Given the description of an element on the screen output the (x, y) to click on. 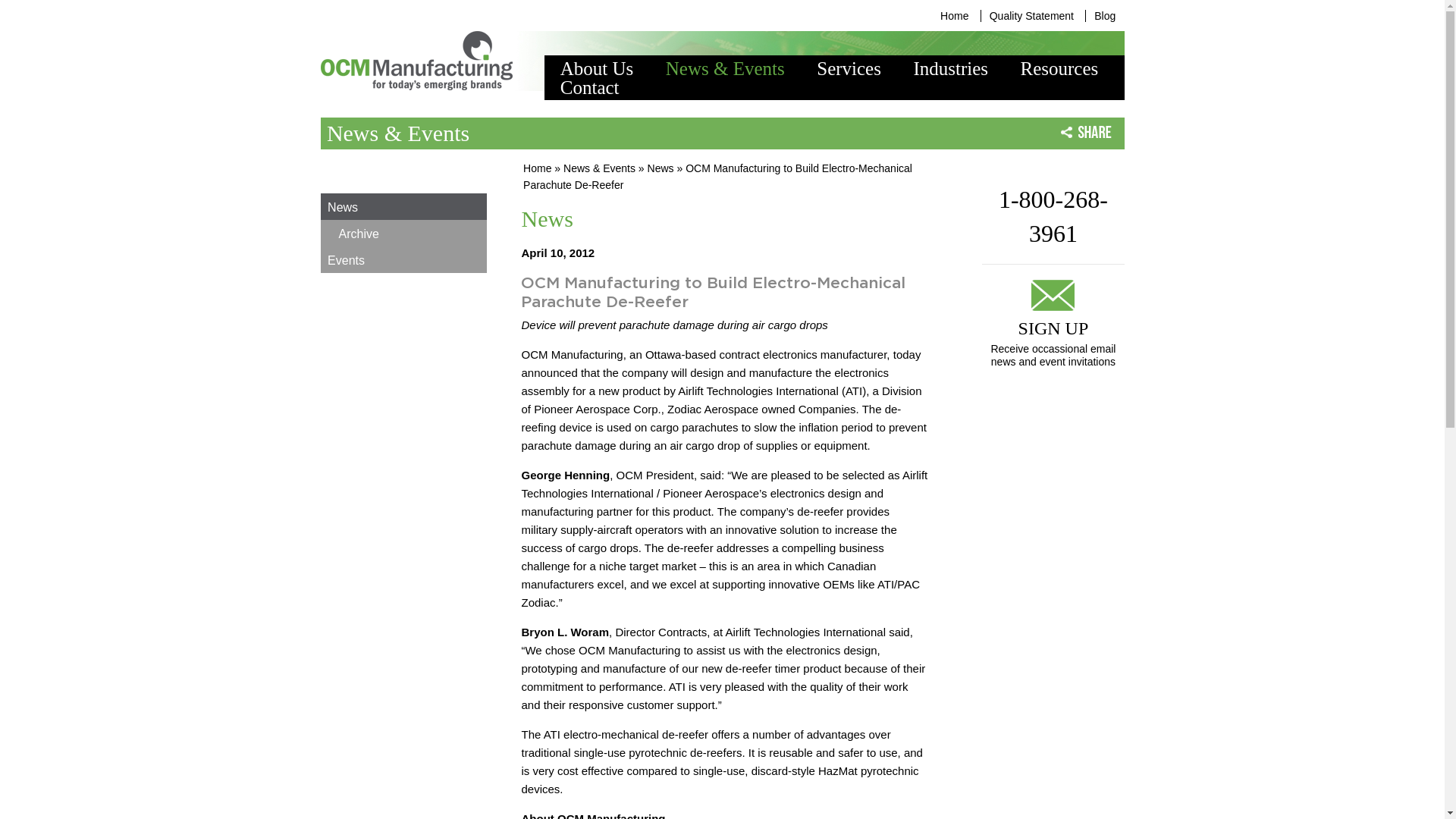
OCM Manufacturing Inc. (416, 60)
Home (954, 15)
About Us (596, 67)
Go to OCM Manufacturing Inc.. (536, 168)
Quality Statement (1032, 15)
Blog (1104, 15)
Go to News. (660, 168)
Services (848, 67)
